Given the description of an element on the screen output the (x, y) to click on. 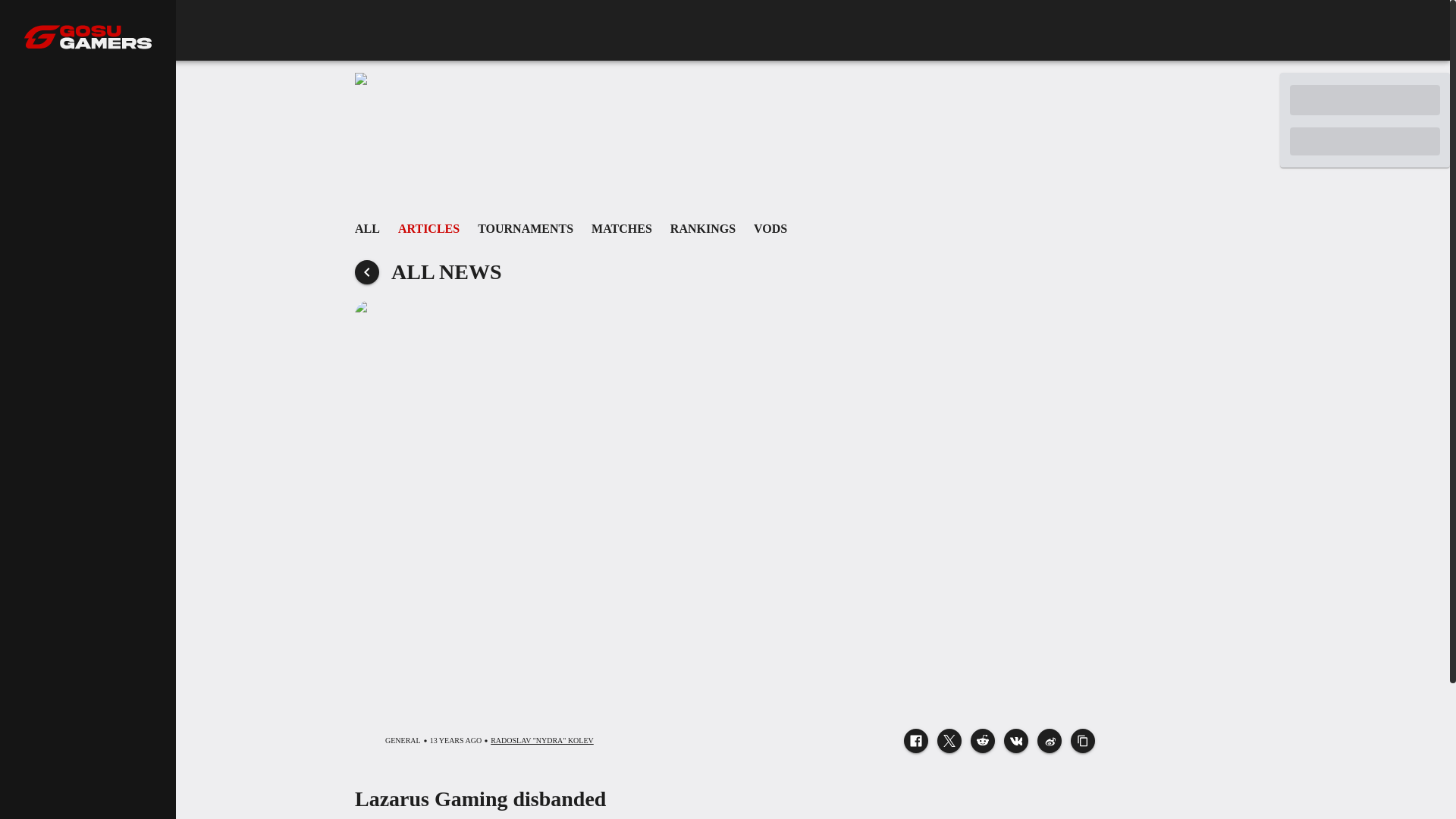
ARTICLES (428, 228)
RADOSLAV "NYDRA" KOLEV (542, 740)
MATCHES (621, 228)
Share to Facebook (916, 740)
RANKINGS (702, 228)
VODS (770, 228)
TOURNAMENTS (724, 228)
